Given the description of an element on the screen output the (x, y) to click on. 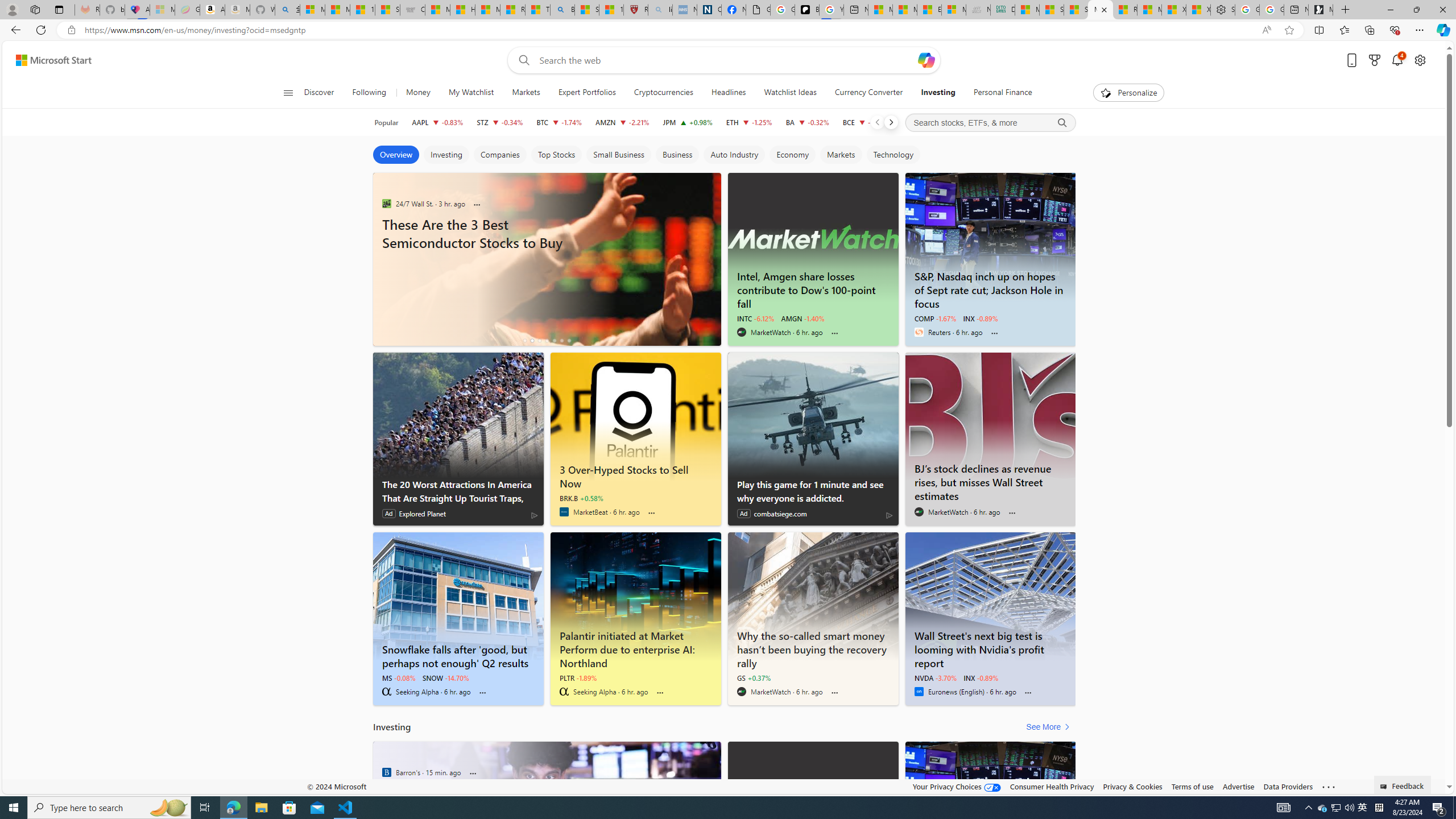
Seeking Alpha (564, 691)
Auto Industry (733, 154)
R******* | Trusted Community Engagement and Contributions (1124, 9)
Investing (445, 154)
